Given the description of an element on the screen output the (x, y) to click on. 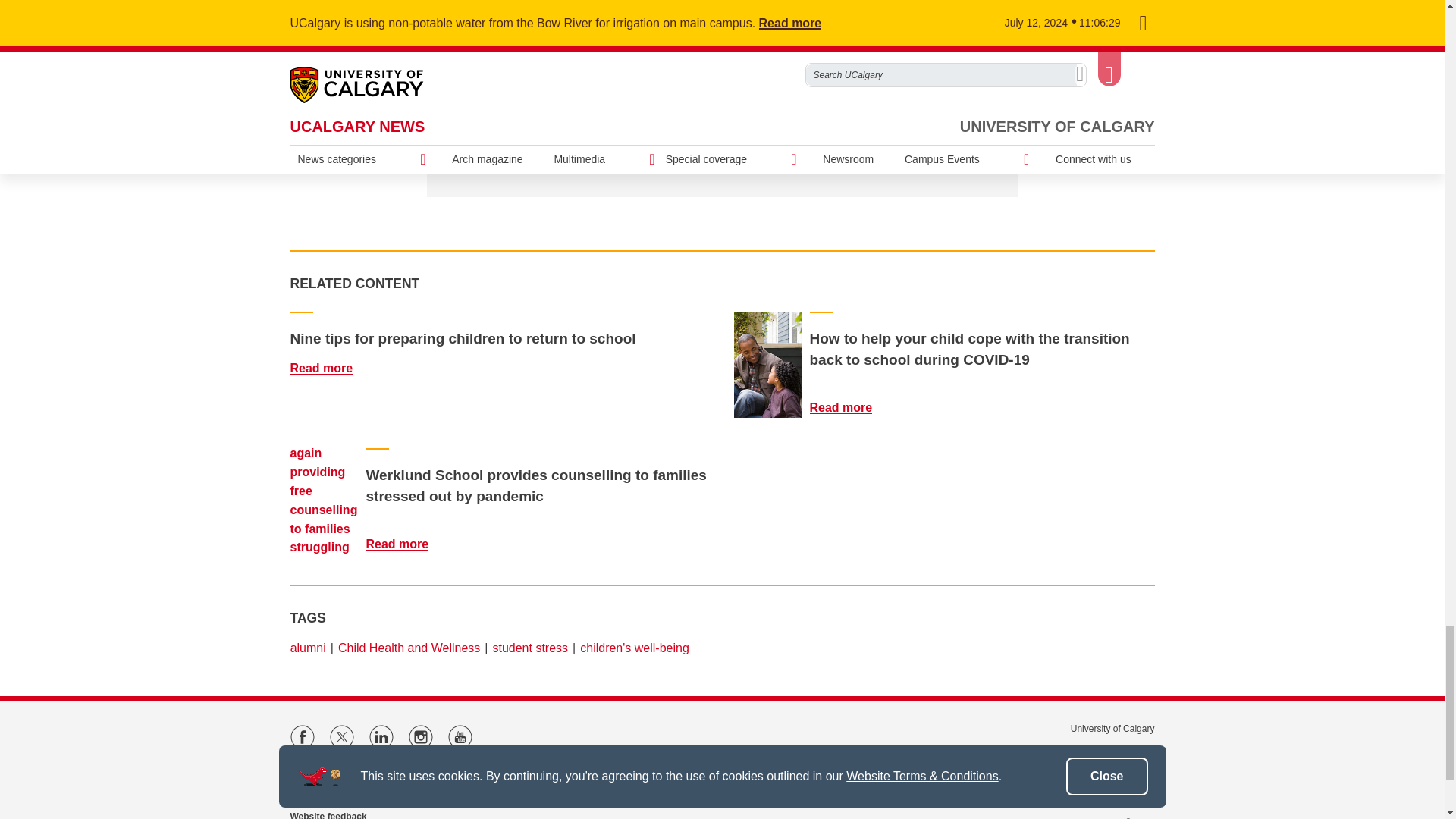
Nine tips for preparing children to return to school  (330, 367)
